Given the description of an element on the screen output the (x, y) to click on. 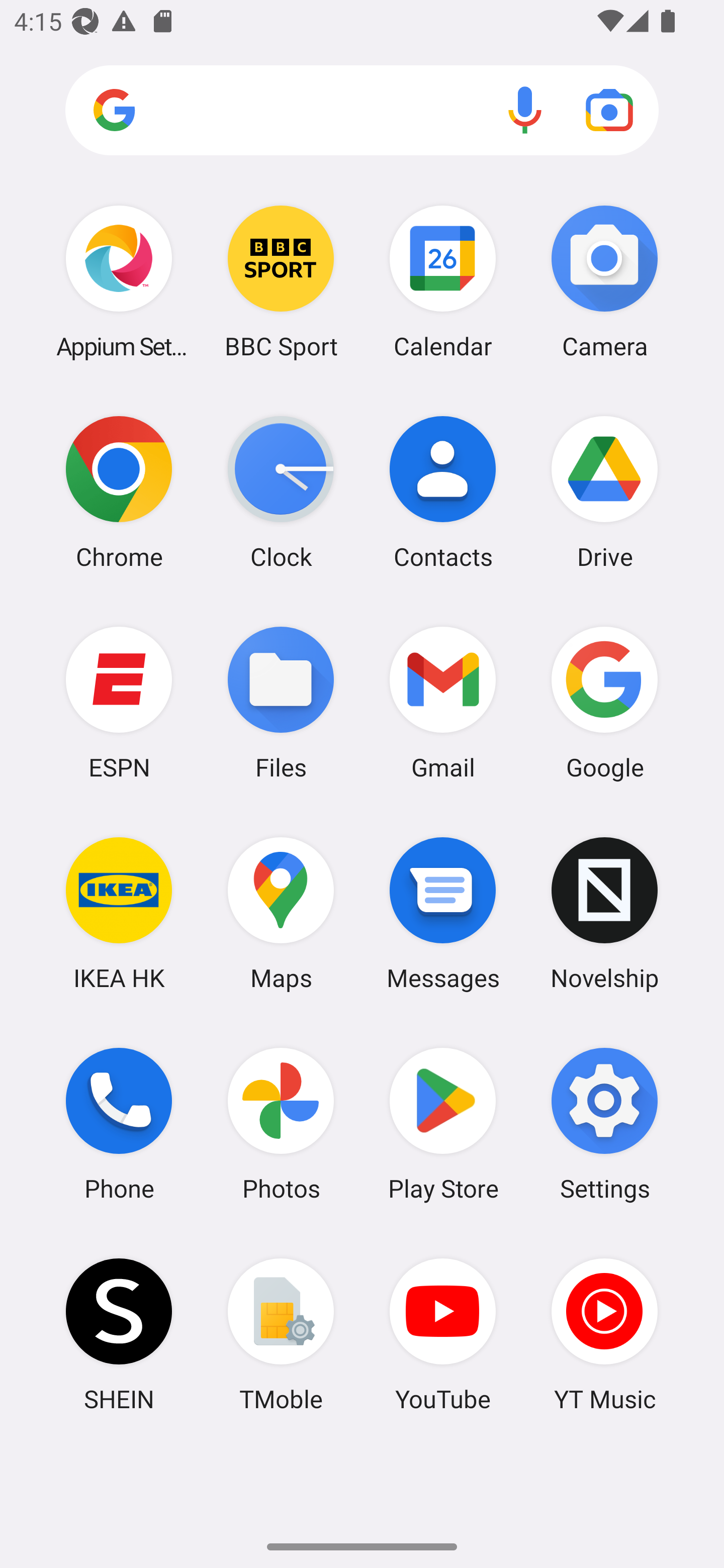
Search apps, web and more (361, 110)
Voice search (524, 109)
Google Lens (608, 109)
Appium Settings (118, 281)
BBC Sport (280, 281)
Calendar (443, 281)
Camera (604, 281)
Chrome (118, 492)
Clock (280, 492)
Contacts (443, 492)
Drive (604, 492)
ESPN (118, 702)
Files (280, 702)
Gmail (443, 702)
Google (604, 702)
IKEA HK (118, 913)
Maps (280, 913)
Messages (443, 913)
Novelship (604, 913)
Phone (118, 1124)
Photos (280, 1124)
Play Store (443, 1124)
Settings (604, 1124)
SHEIN (118, 1334)
TMoble (280, 1334)
YouTube (443, 1334)
YT Music (604, 1334)
